Given the description of an element on the screen output the (x, y) to click on. 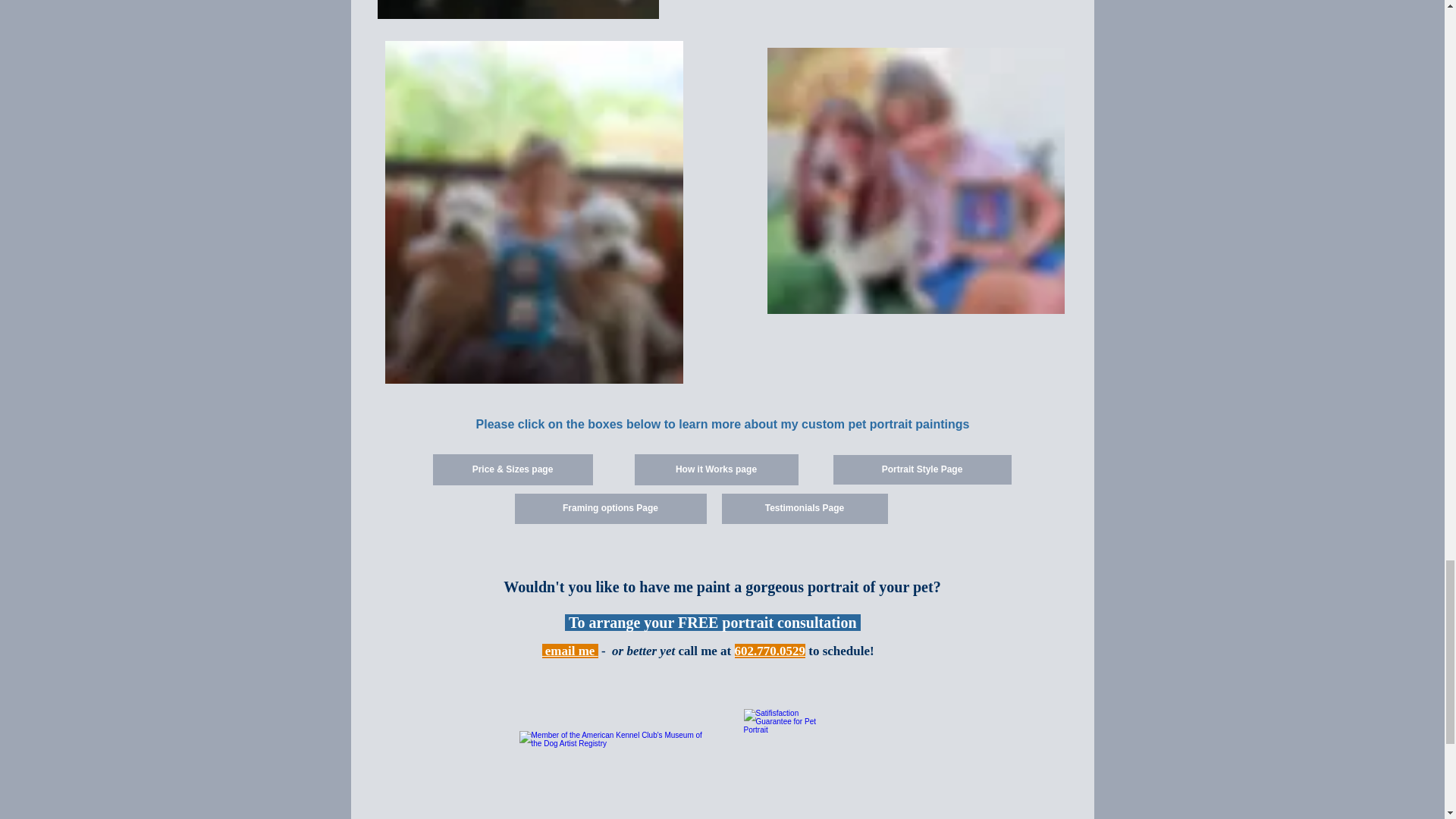
 To arrange your FREE portrait consultation  (712, 623)
 email me  (569, 650)
Testimonials Page (805, 508)
How it Works page (715, 469)
602.770.0529 (770, 650)
Framing options Page (609, 508)
Portrait Style Page (921, 469)
